Given the description of an element on the screen output the (x, y) to click on. 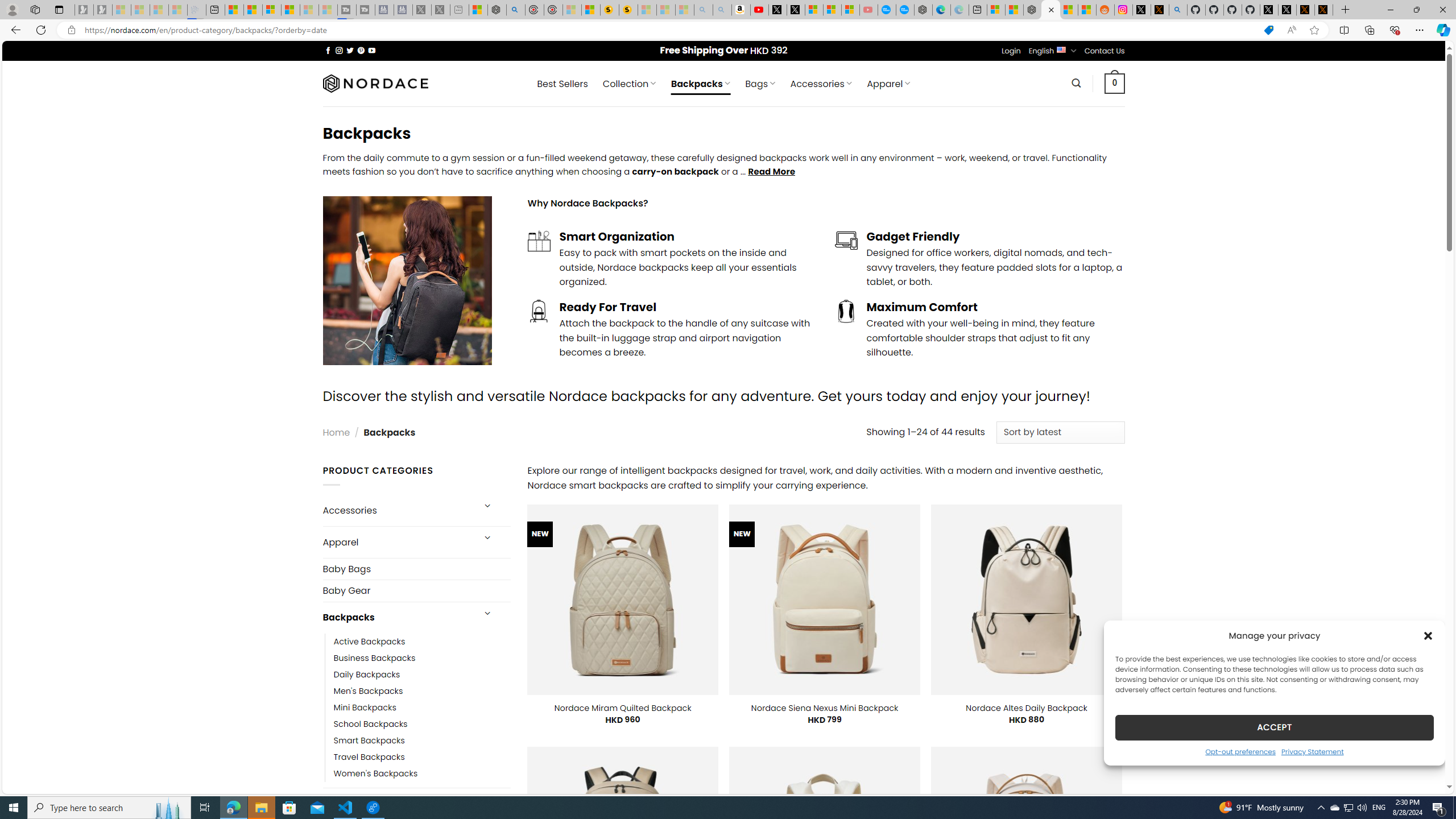
Privacy Statement (1312, 750)
Amazon Echo Dot PNG - Search Images - Sleeping (721, 9)
Nordace Siena Nexus Mini Backpack (824, 708)
Shanghai, China Weather trends | Microsoft Weather (1086, 9)
Day 1: Arriving in Yemen (surreal to be here) - YouTube (759, 9)
github - Search (1178, 9)
Backpacks (397, 617)
